Given the description of an element on the screen output the (x, y) to click on. 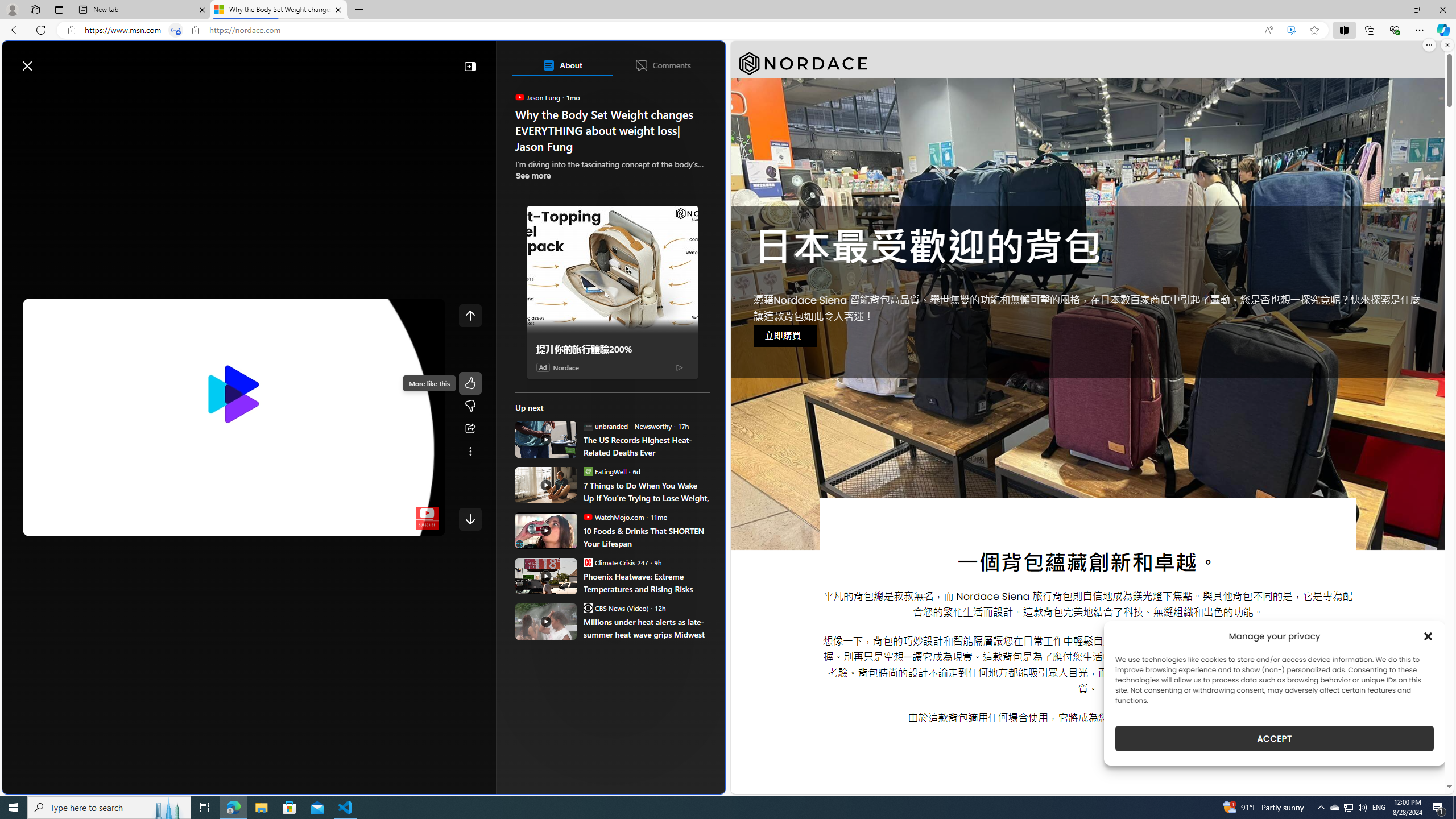
Workspaces (34, 9)
Following (98, 92)
intro (226, 525)
Channel watermark (427, 517)
Class: cmplz-close (1428, 636)
Class: control icon-only (469, 315)
Class: button-glyph (16, 92)
WatchMojo.com (587, 516)
Settings (366, 525)
New tab (142, 9)
Skip to content (49, 59)
Nordace (803, 63)
Enhance video (1291, 29)
